Given the description of an element on the screen output the (x, y) to click on. 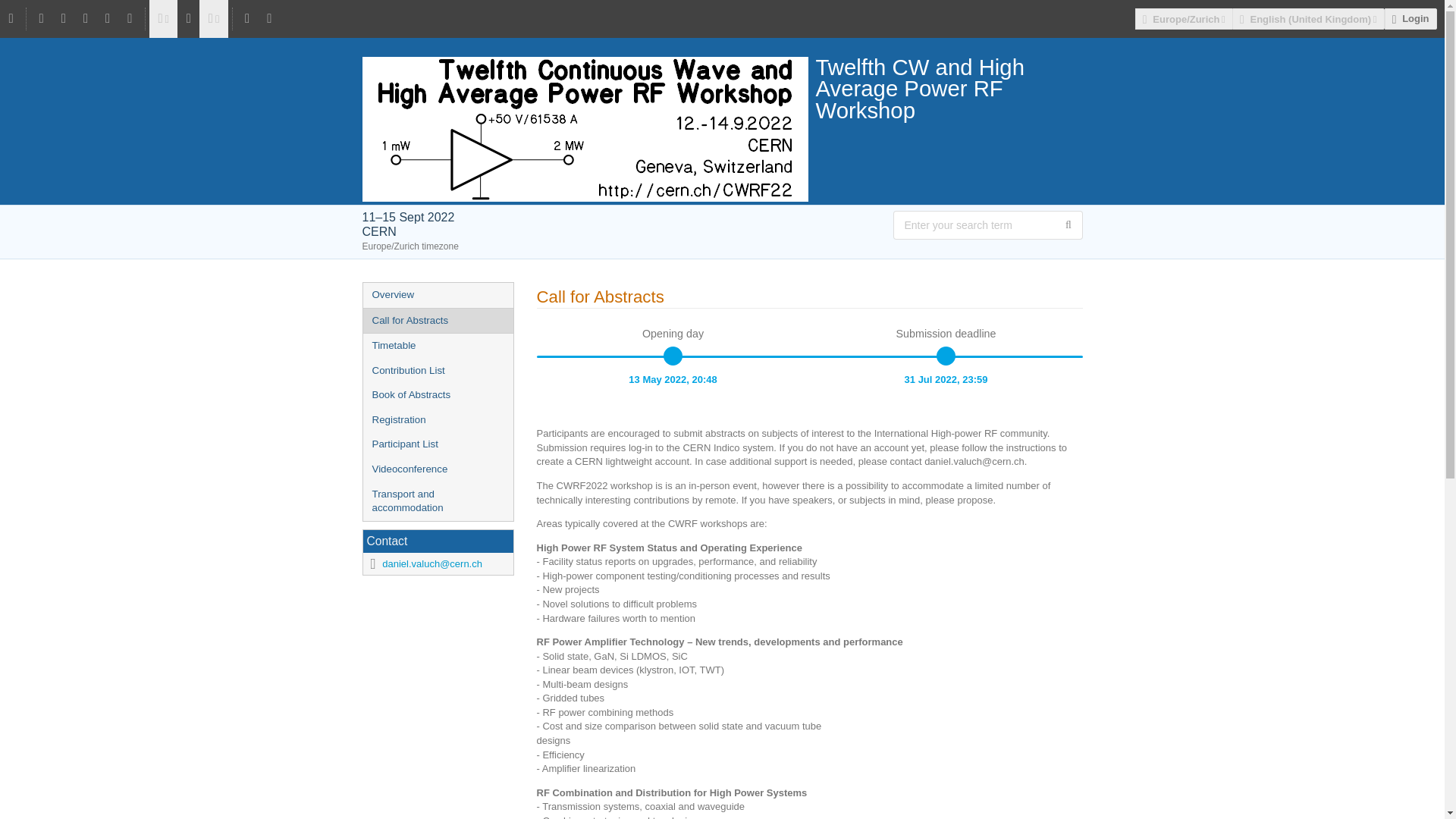
Timetable (437, 345)
Call for Abstracts (437, 320)
Login (1410, 19)
Overview (437, 294)
Twelfth CW and High Average Power RF Workshop (722, 88)
